Given the description of an element on the screen output the (x, y) to click on. 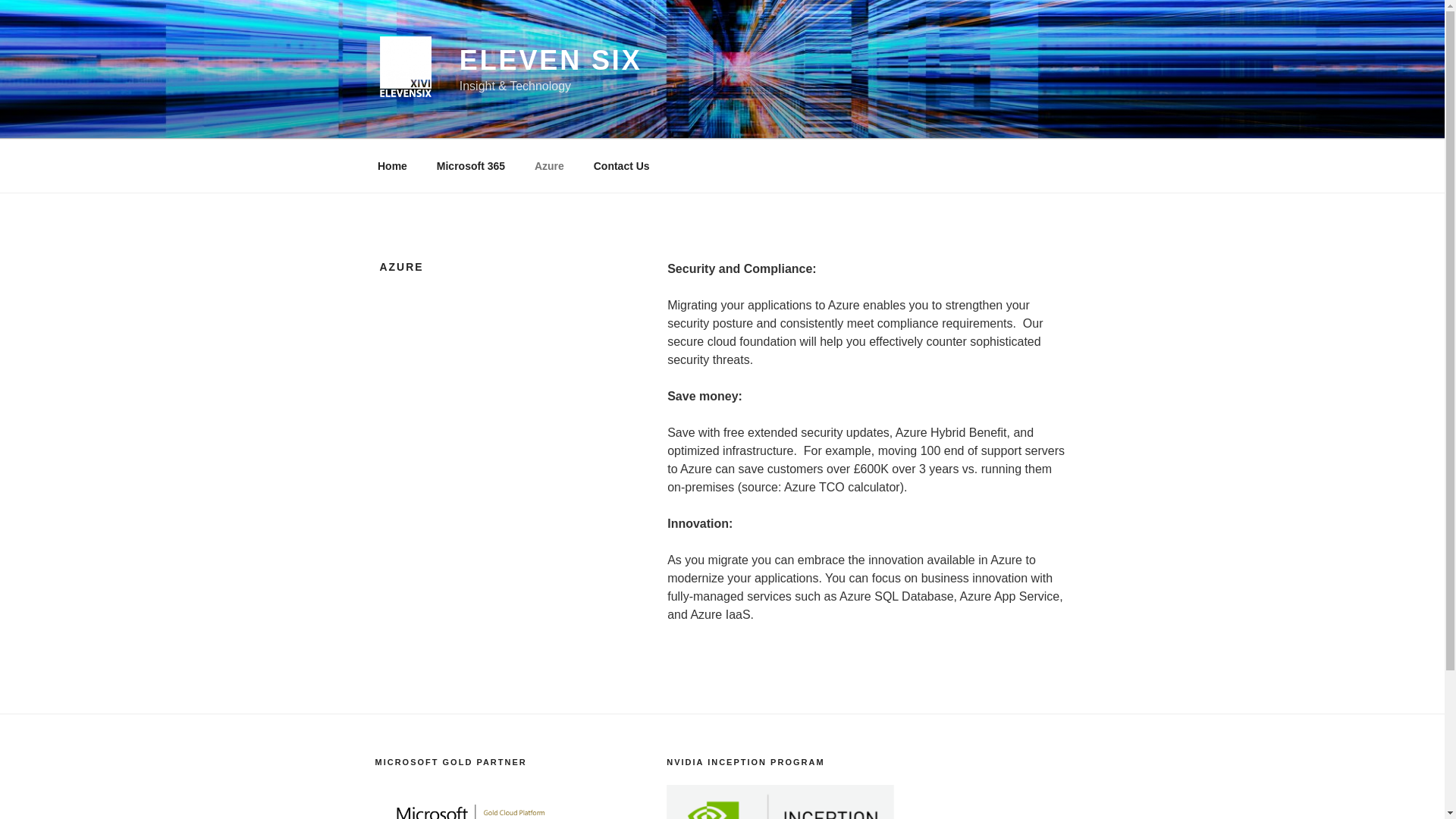
Home (392, 165)
Azure (548, 165)
ELEVEN SIX (551, 60)
Microsoft 365 (470, 165)
Contact Us (620, 165)
